Given the description of an element on the screen output the (x, y) to click on. 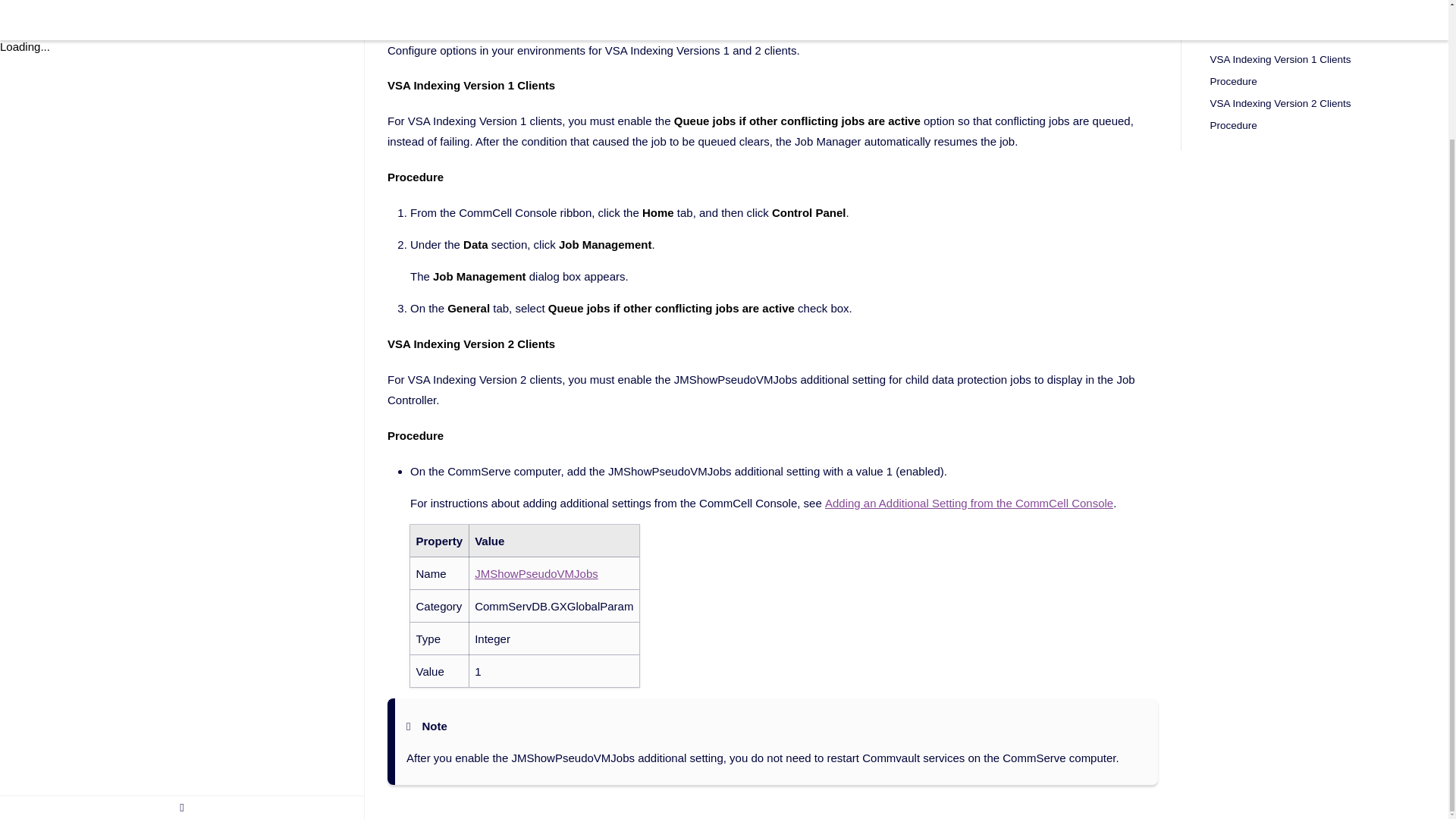
Adding an Additional Setting from the CommCell Console (969, 502)
Hide the navigation (182, 646)
JMShowPseudoVMJobs (536, 573)
